Given the description of an element on the screen output the (x, y) to click on. 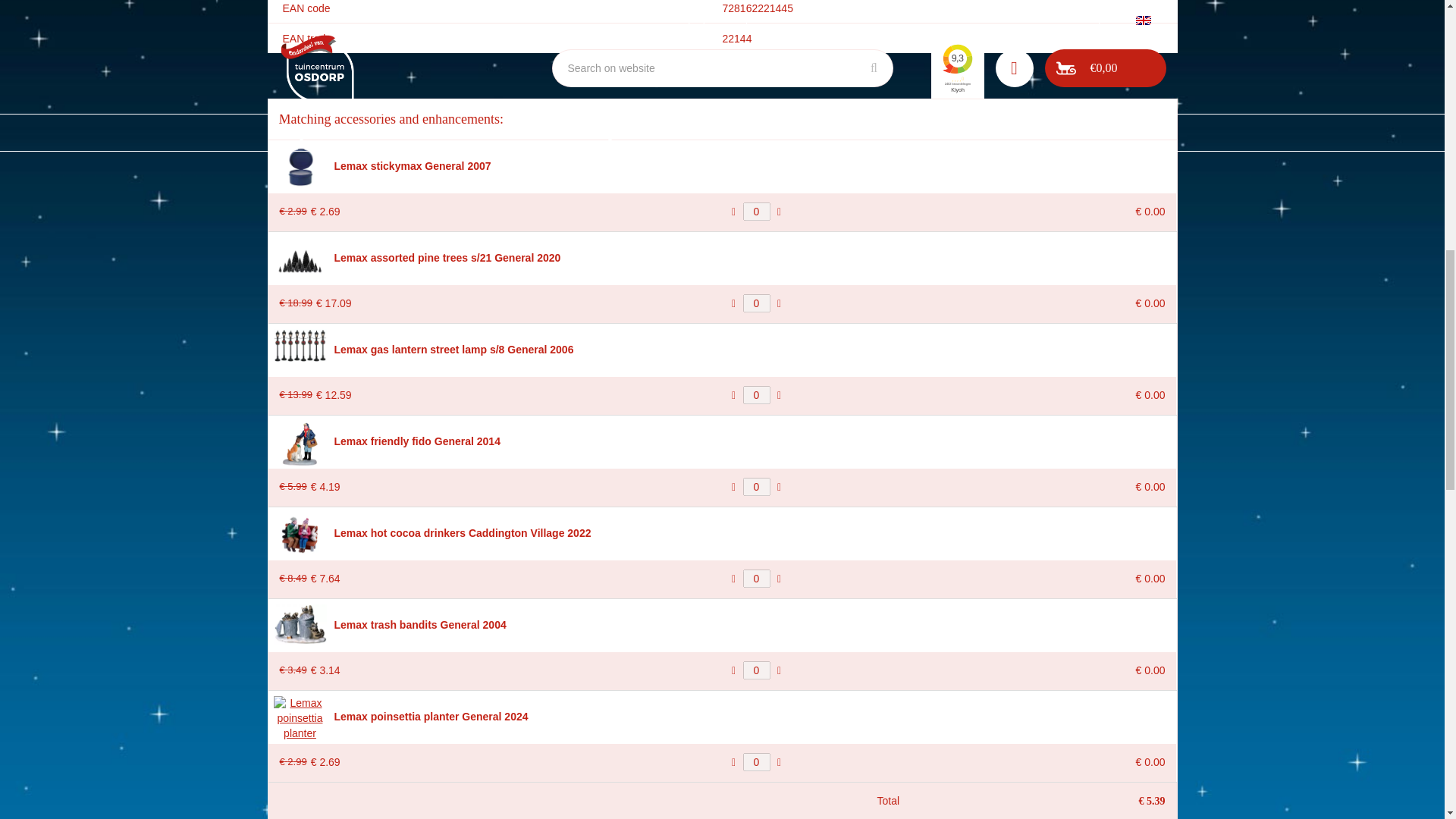
0 (756, 669)
0 (756, 578)
0 (756, 486)
0 (756, 303)
0 (756, 394)
0 (756, 761)
0 (756, 211)
